Given the description of an element on the screen output the (x, y) to click on. 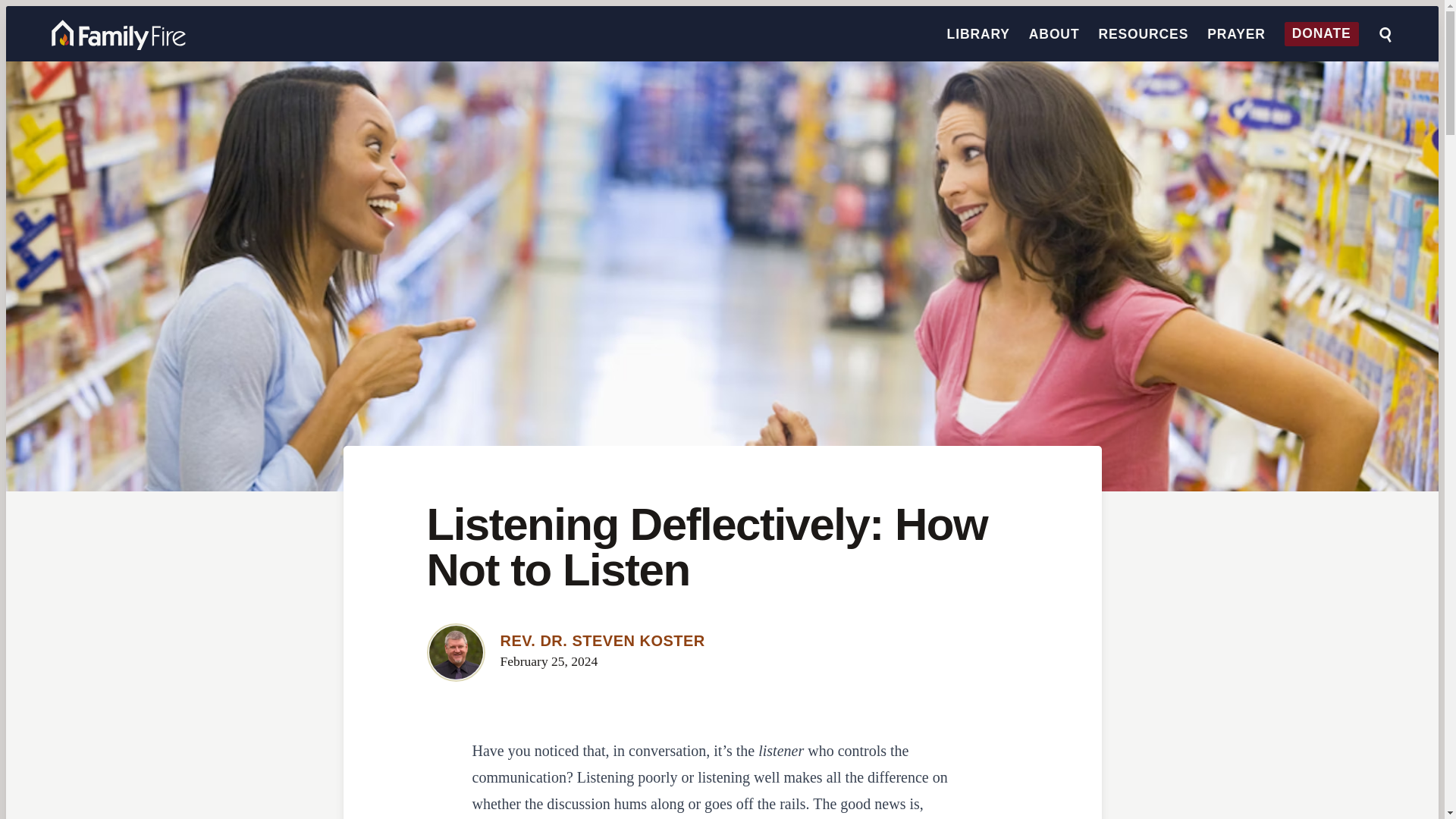
ABOUT (1054, 33)
RESOURCES (1142, 33)
REV. DR. STEVEN KOSTER (602, 640)
LIBRARY (978, 33)
Search (1385, 34)
PRAYER (1236, 33)
DONATE (1321, 34)
